Given the description of an element on the screen output the (x, y) to click on. 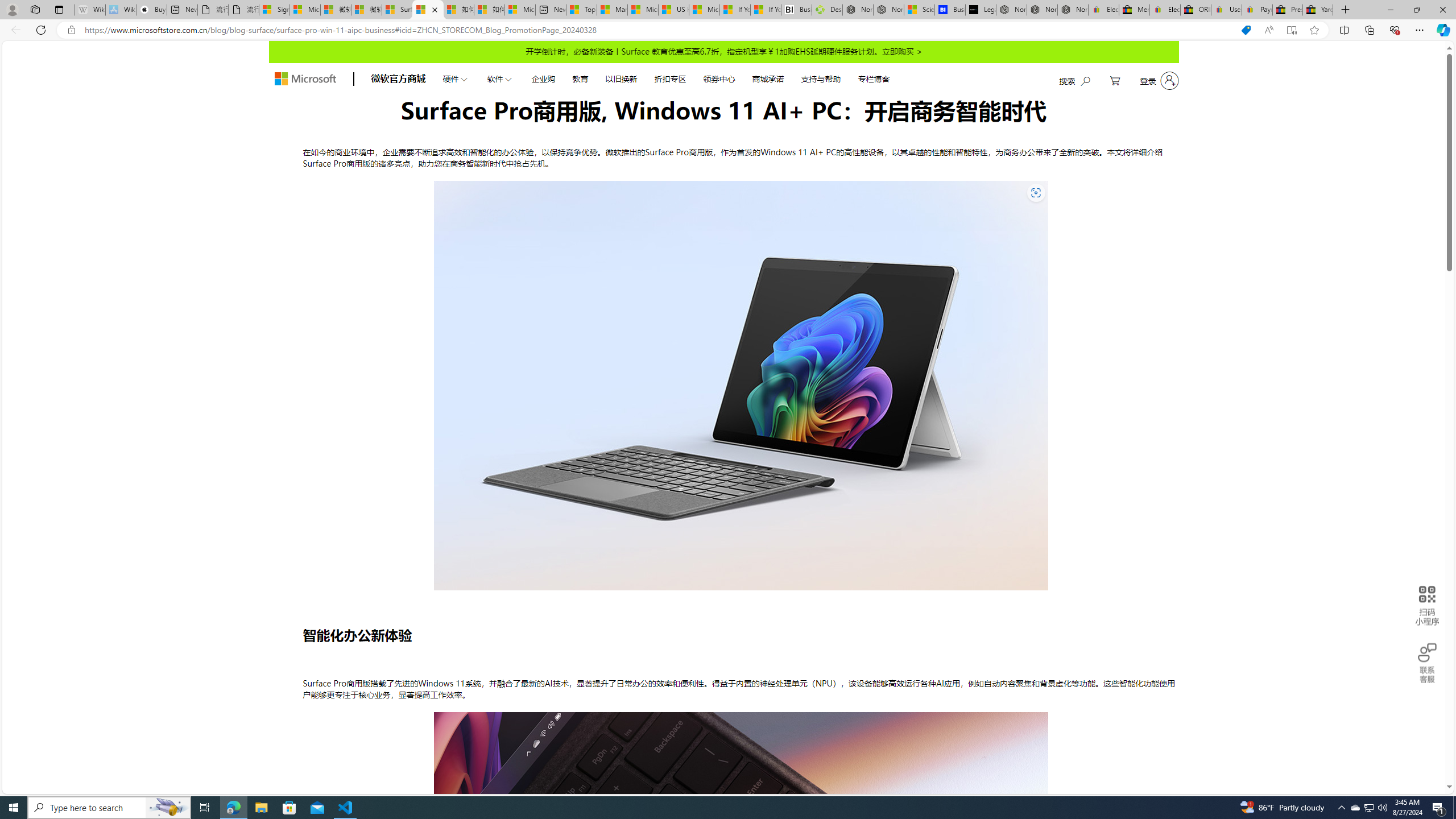
Nordace - Summer Adventures 2024 (857, 9)
Marine life - MSN (611, 9)
